Given the description of an element on the screen output the (x, y) to click on. 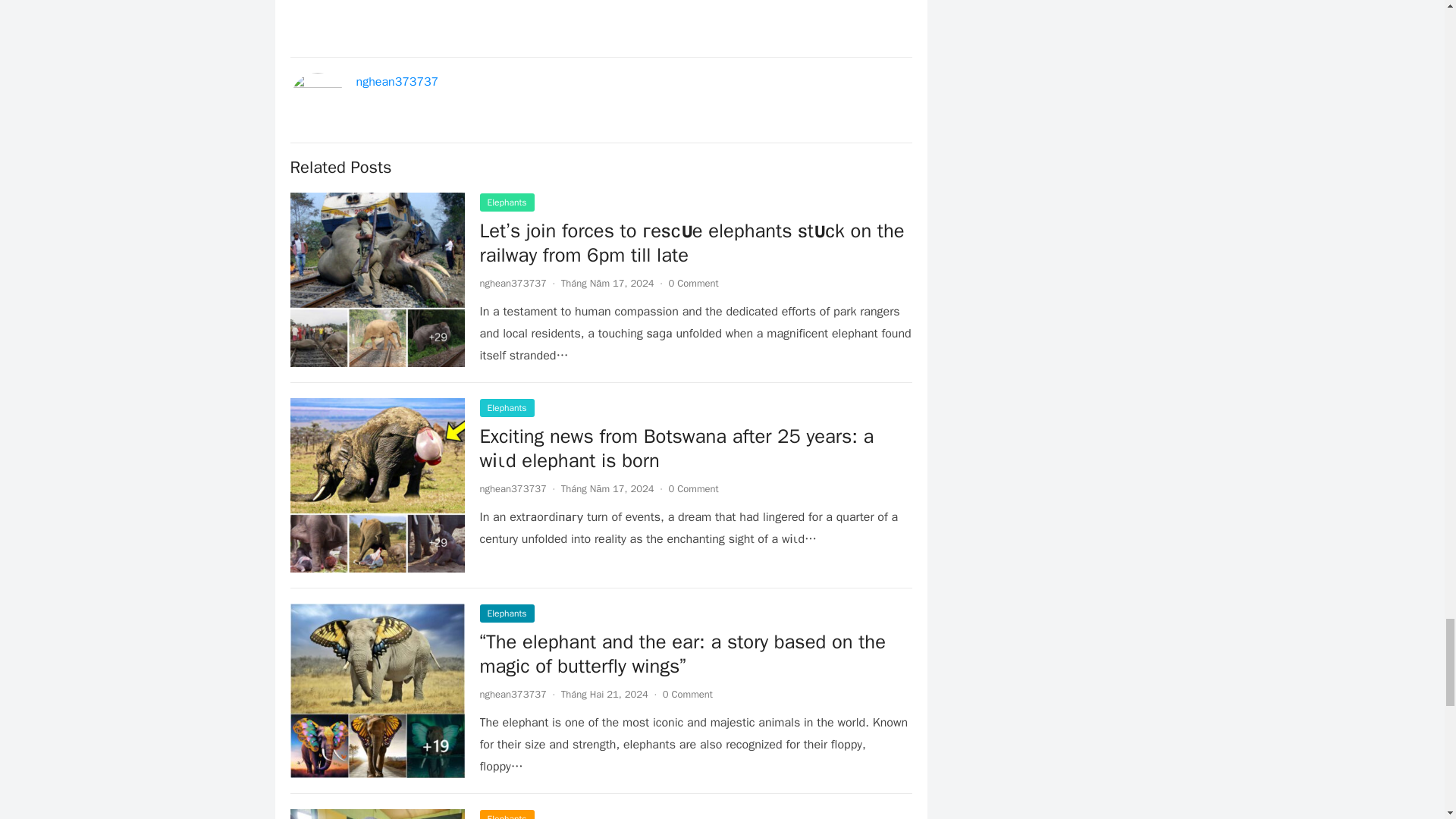
nghean373737 (397, 81)
Elephants (506, 407)
Elephants (506, 202)
0 Comment (693, 282)
nghean373737 (512, 282)
